Given the description of an element on the screen output the (x, y) to click on. 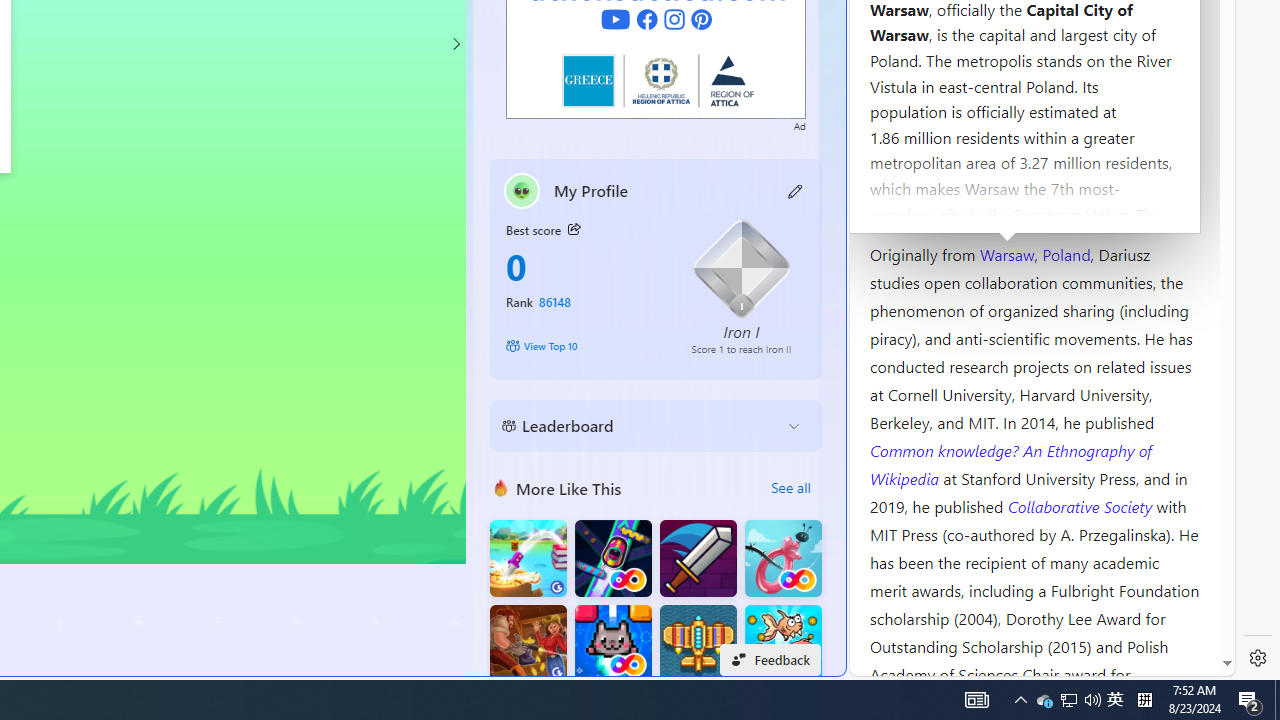
Knife Flip (528, 558)
Class: button (574, 229)
""'s avatar (522, 190)
Class: button edit-icon (795, 190)
Poland (1065, 253)
View Top 10 (584, 345)
See all (790, 487)
